Given the description of an element on the screen output the (x, y) to click on. 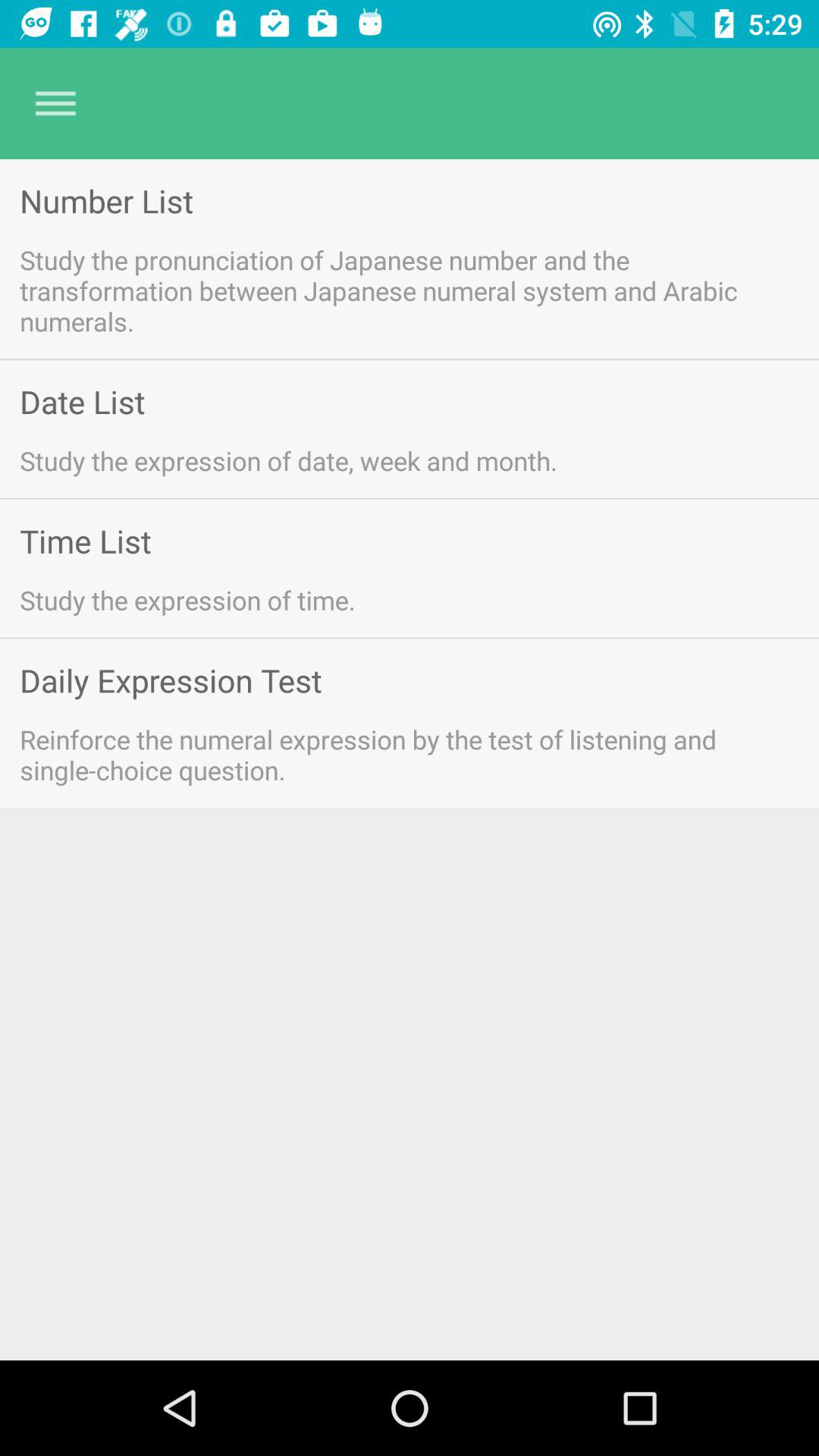
select item above the study the expression (82, 401)
